Given the description of an element on the screen output the (x, y) to click on. 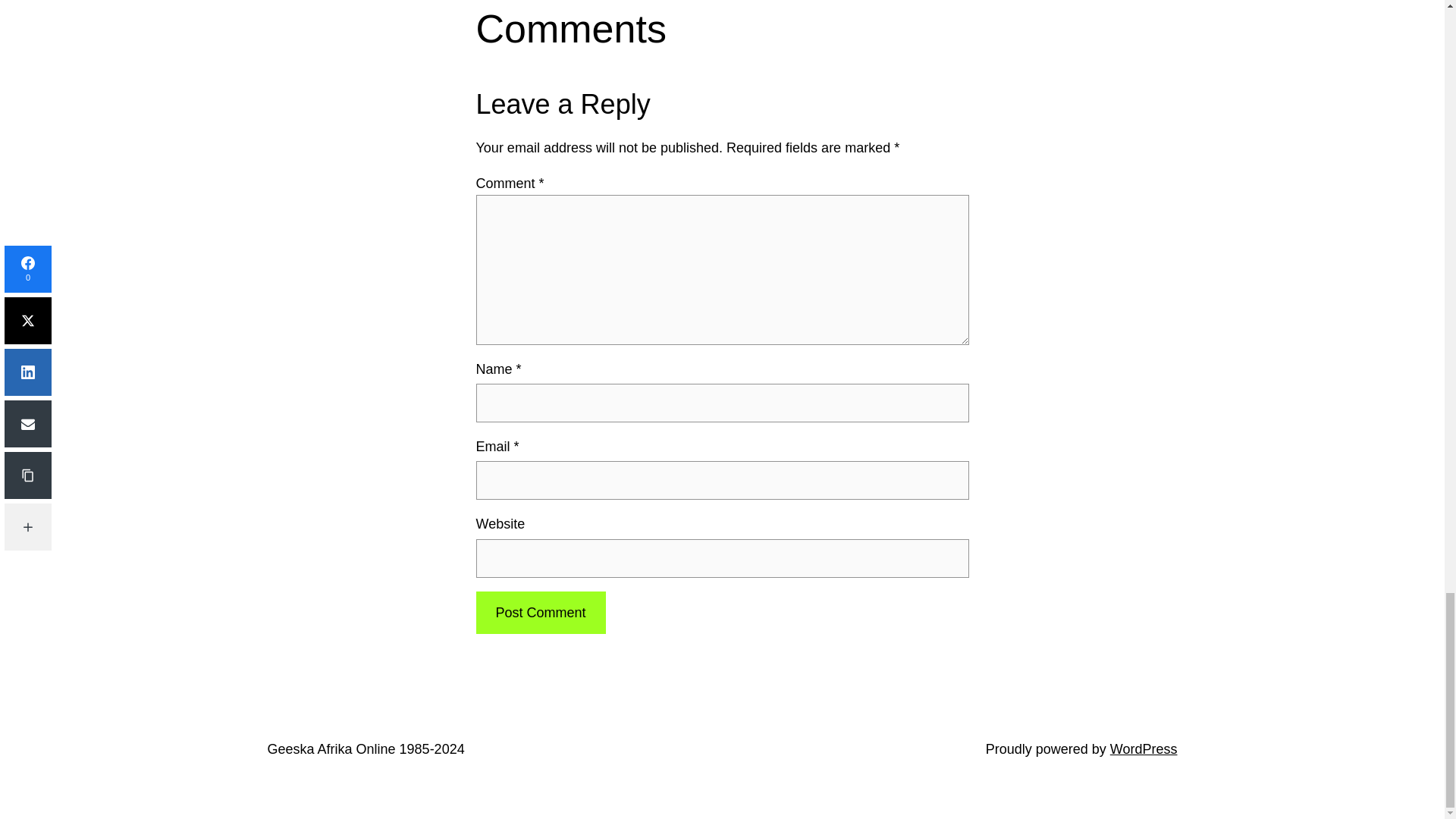
Post Comment (540, 612)
Post Comment (540, 612)
Geeska Afrika Online 1985-2024 (365, 749)
WordPress (1143, 749)
